Given the description of an element on the screen output the (x, y) to click on. 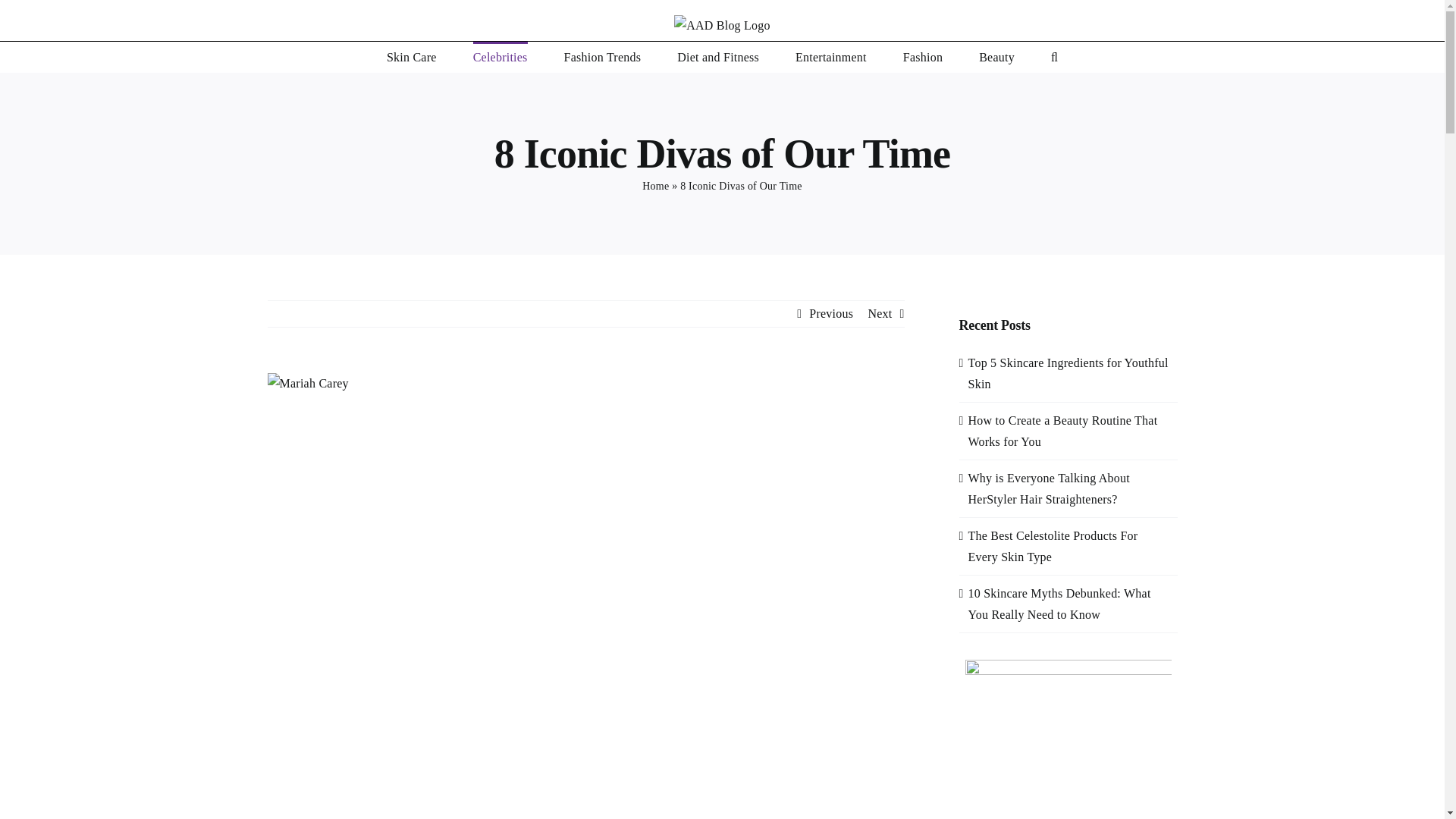
Celebrities (500, 56)
Diet and Fitness (717, 56)
Previous (831, 313)
Fashion Trends (603, 56)
Next (879, 313)
Home (655, 185)
Skin Care (411, 56)
Entertainment (830, 56)
Fashion (922, 56)
Search (1054, 56)
Beauty (996, 56)
